Given the description of an element on the screen output the (x, y) to click on. 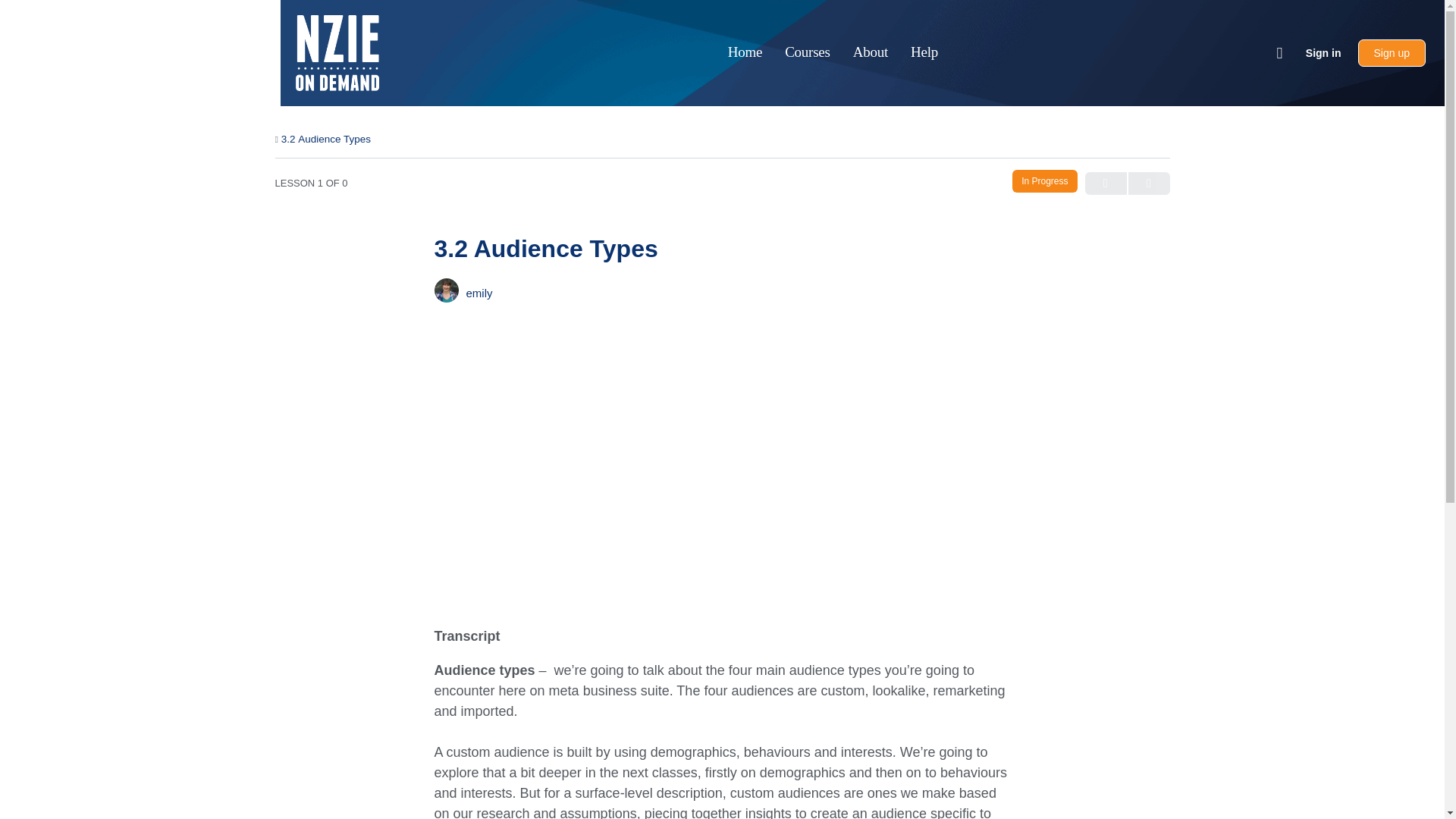
Sign up (1391, 52)
NZIE Matt Meta 3.2 Audience Types (675, 476)
Sign in (1324, 53)
